Given the description of an element on the screen output the (x, y) to click on. 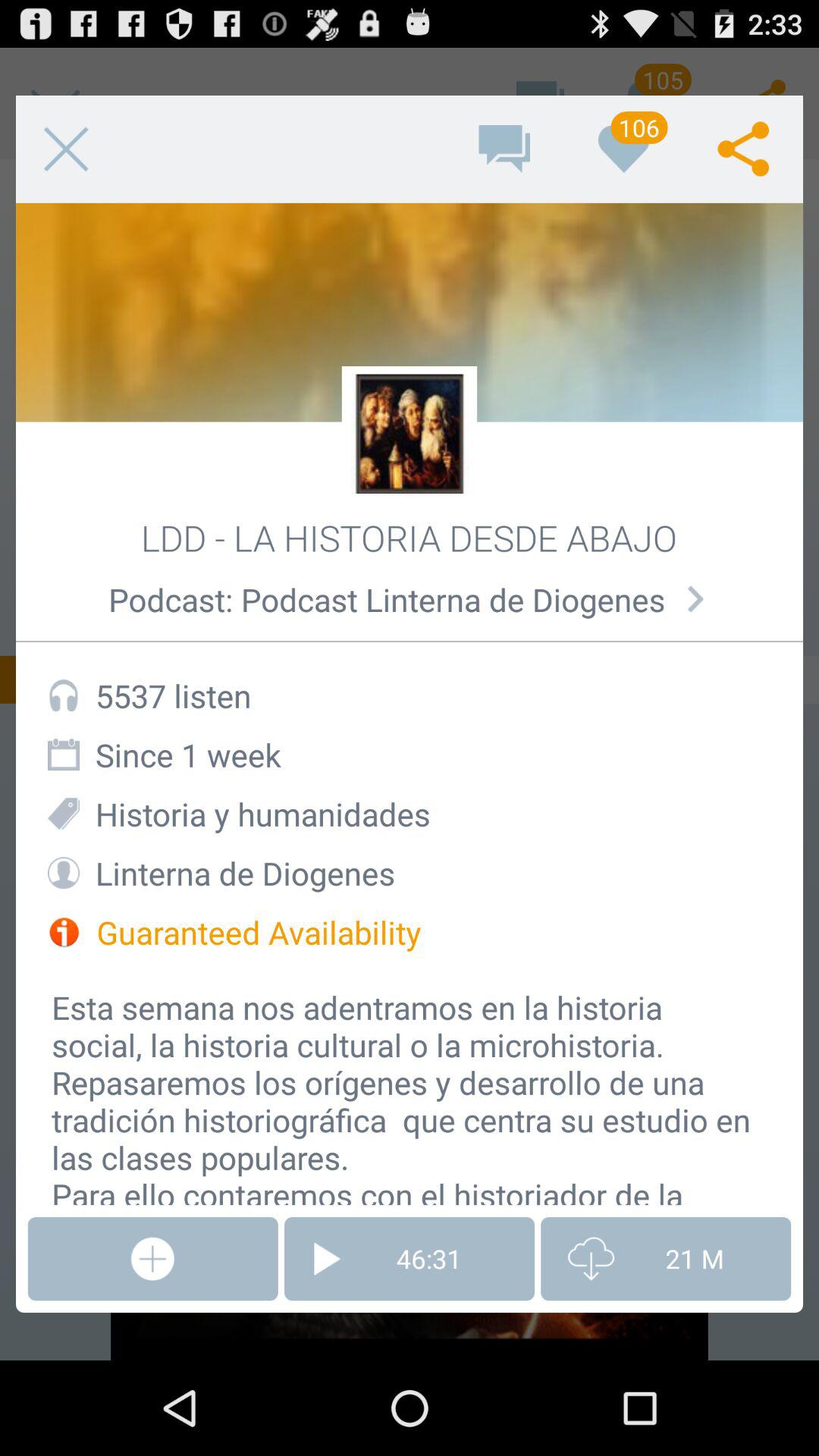
turn on item to the left of the 21 m (409, 1258)
